Given the description of an element on the screen output the (x, y) to click on. 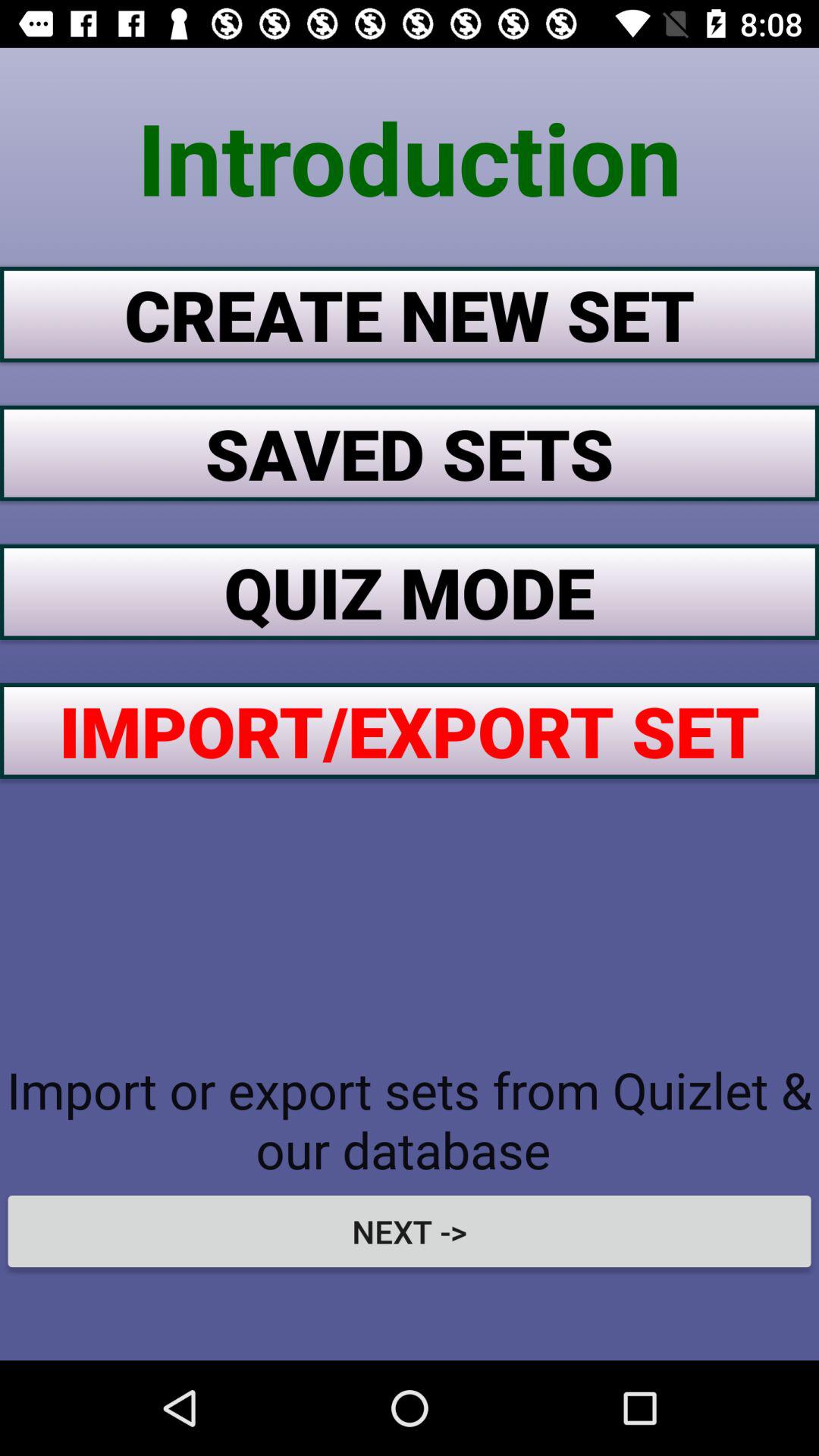
jump until the next -> (409, 1231)
